Given the description of an element on the screen output the (x, y) to click on. 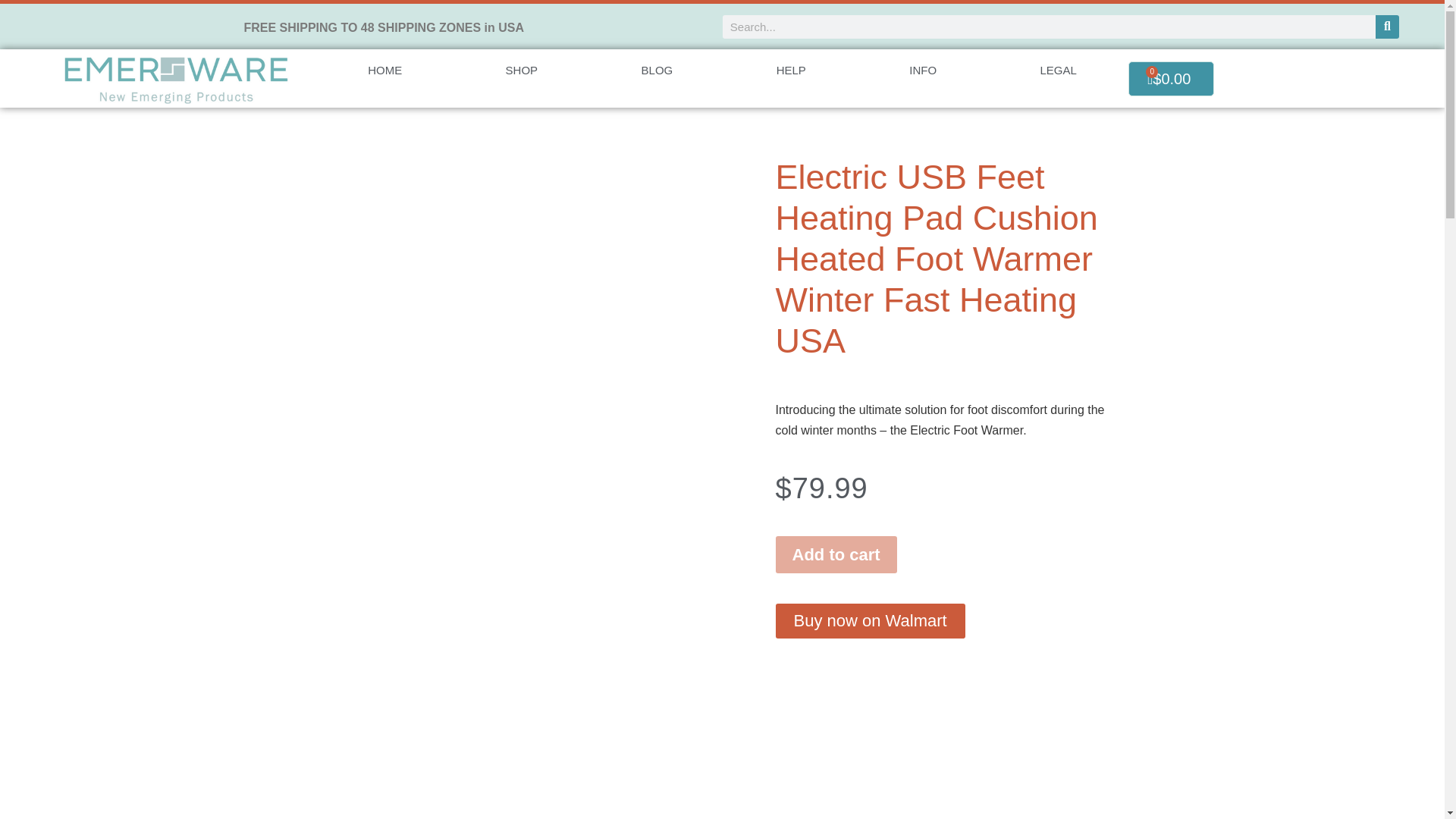
LEGAL (1058, 70)
HELP (790, 70)
SHOP (520, 70)
HOME (383, 70)
BLOG (656, 70)
INFO (922, 70)
